Given the description of an element on the screen output the (x, y) to click on. 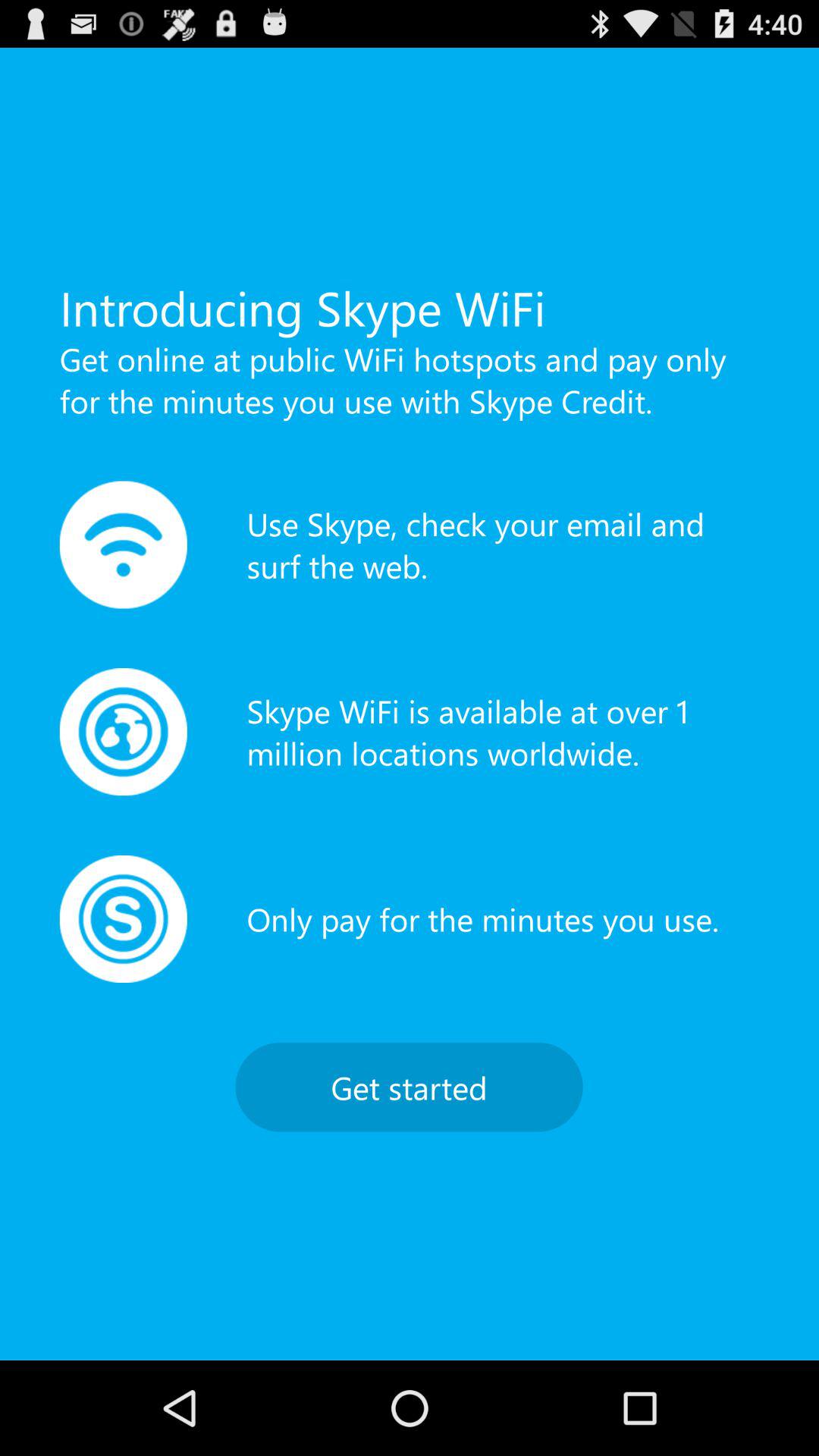
flip to get started icon (408, 1086)
